Given the description of an element on the screen output the (x, y) to click on. 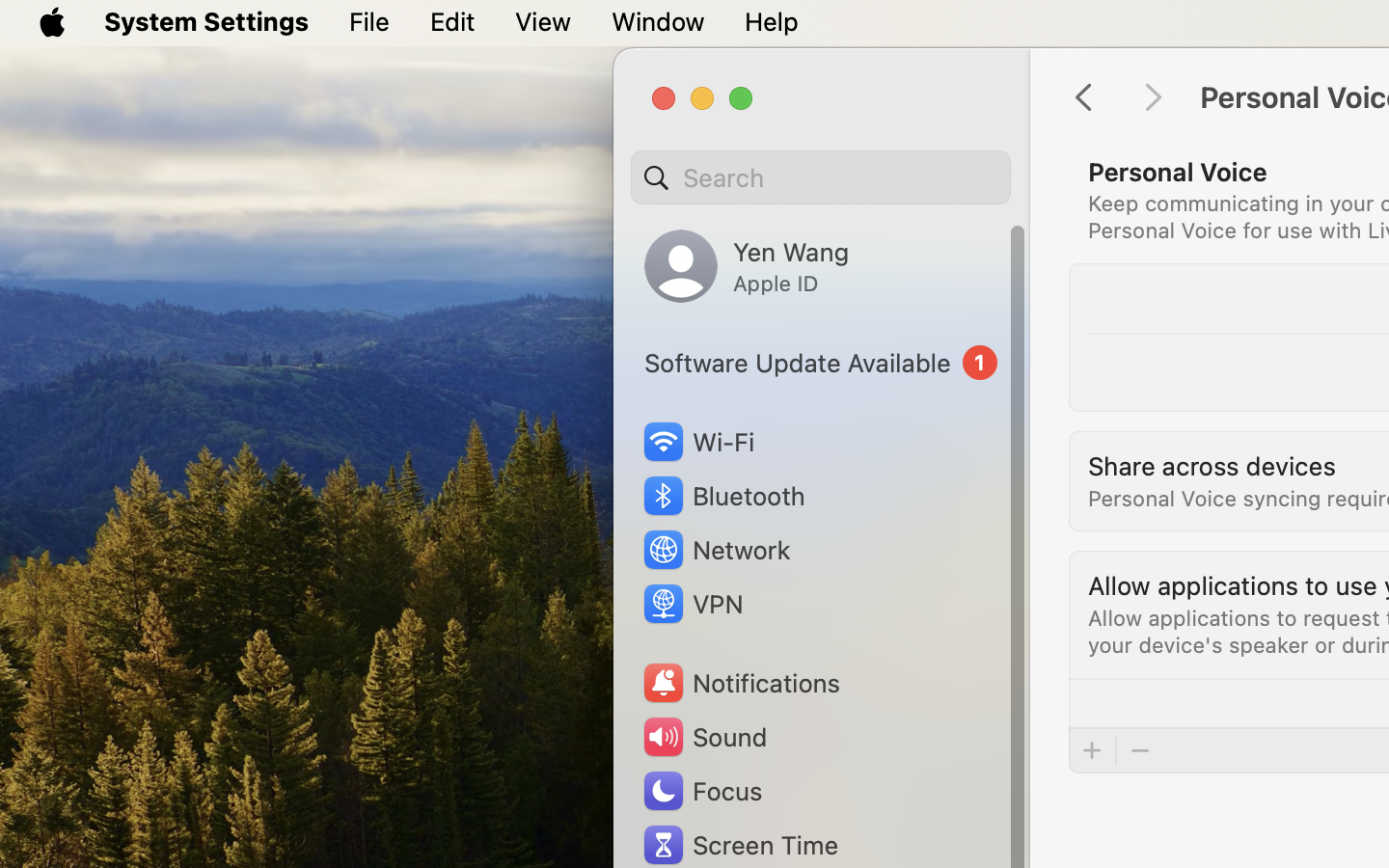
VPN Element type: AXStaticText (691, 603)
Focus Element type: AXStaticText (701, 790)
Sound Element type: AXStaticText (703, 736)
Network Element type: AXStaticText (715, 549)
